Given the description of an element on the screen output the (x, y) to click on. 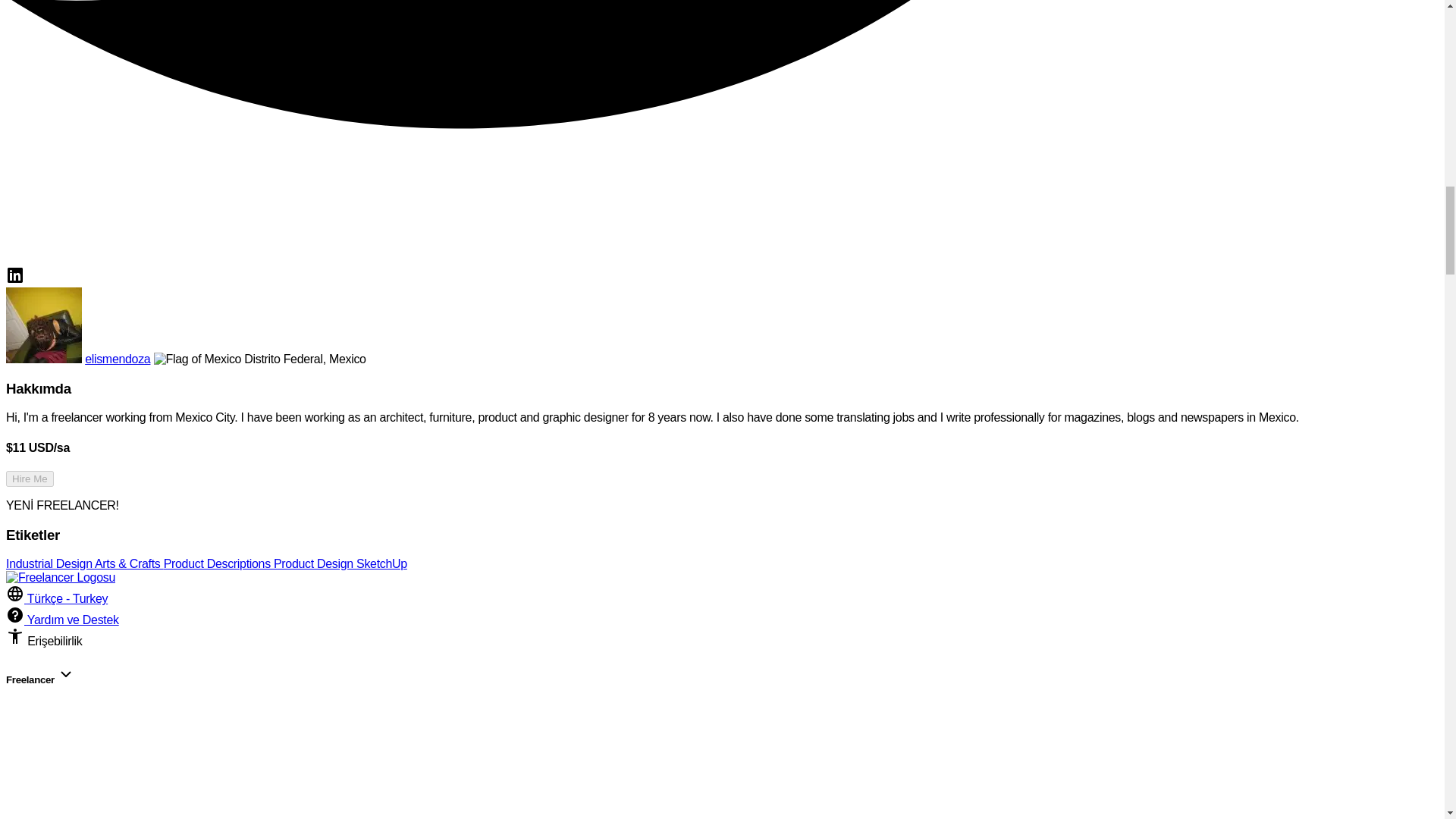
SketchUp (381, 563)
Flag of Mexico (197, 359)
elismendoza (116, 358)
Product Descriptions (218, 563)
Hire Me (29, 478)
Product Design (314, 563)
Industrial Design (49, 563)
